Given the description of an element on the screen output the (x, y) to click on. 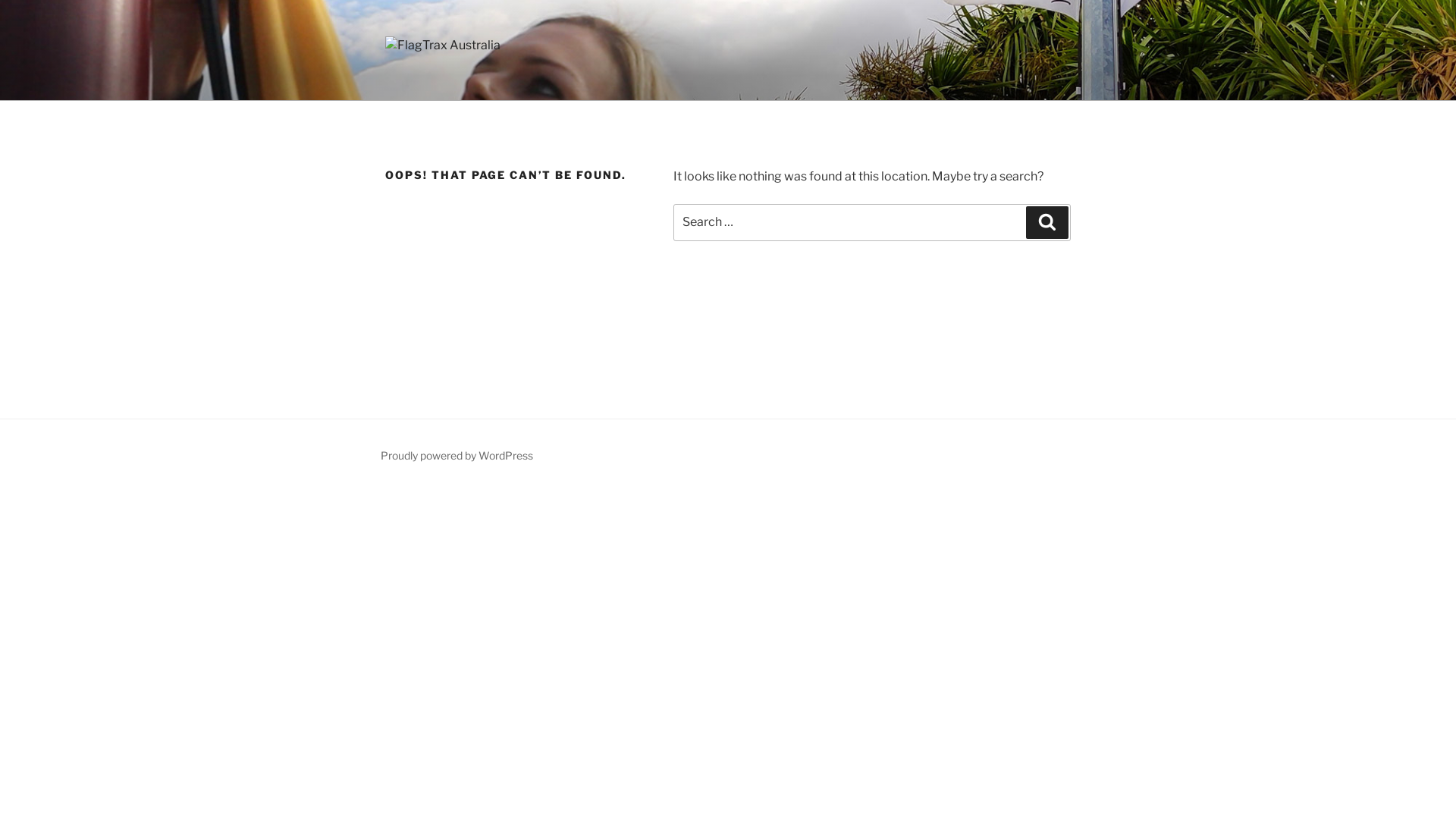
Proudly powered by WordPress Element type: text (456, 454)
FLAGTRAX AUSTRALIA Element type: text (565, 80)
Search Element type: text (1047, 222)
